Given the description of an element on the screen output the (x, y) to click on. 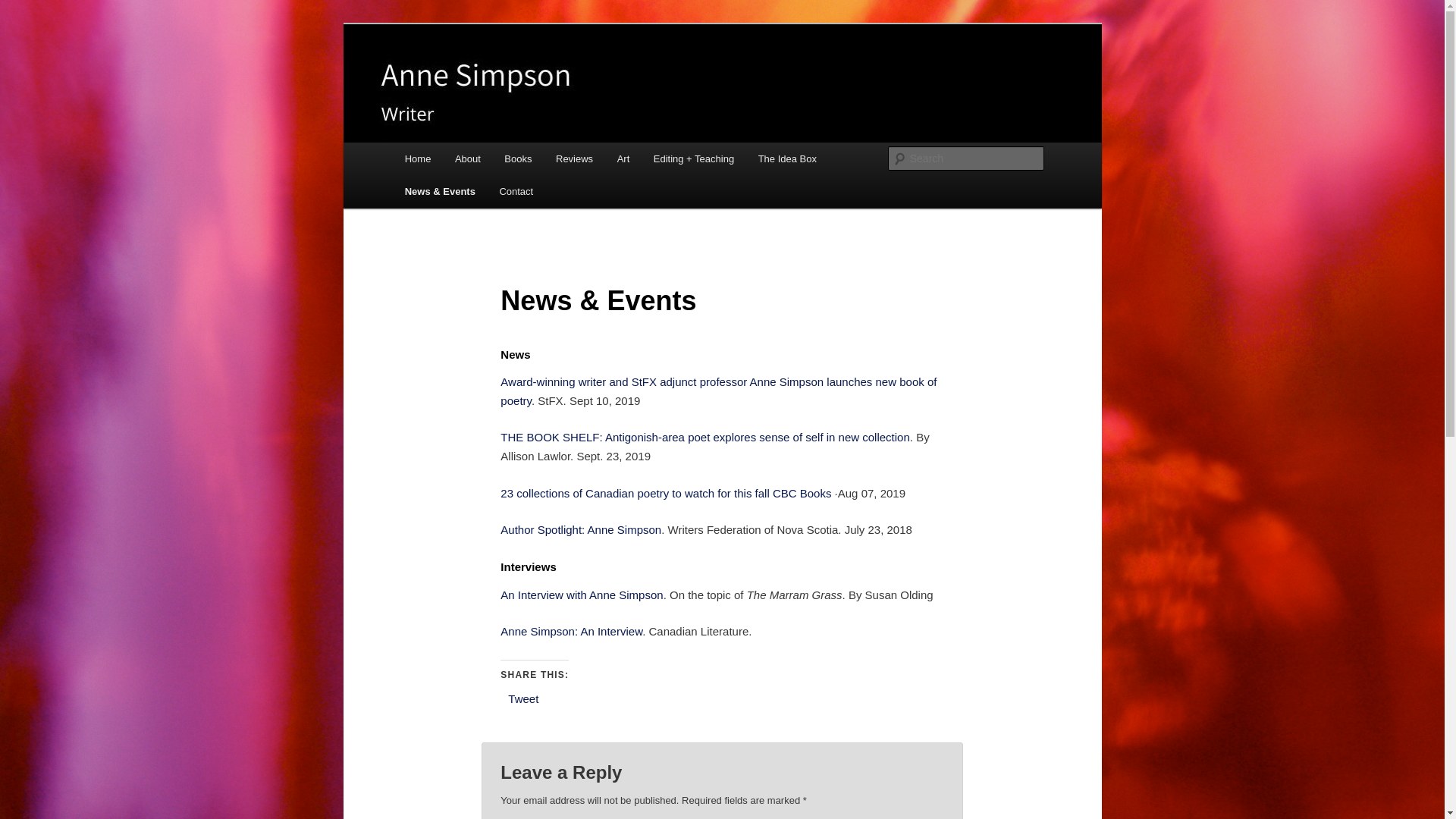
Books Element type: text (518, 158)
Anne Simpson Element type: text (479, 78)
News & Events Element type: text (439, 191)
Art Element type: text (623, 158)
Tweet Element type: text (523, 698)
The Idea Box Element type: text (787, 158)
An Interview with Anne Simpson Element type: text (581, 594)
Skip to primary content Element type: text (414, 142)
Anne Simpson: An Interview Element type: text (571, 630)
About Element type: text (467, 158)
Author Spotlight: Anne Simpson Element type: text (580, 529)
Search Element type: text (24, 8)
Editing + Teaching Element type: text (693, 158)
Reviews Element type: text (574, 158)
Home Element type: text (417, 158)
23 collections of Canadian poetry to watch for this fall Element type: text (634, 492)
CBC Books Element type: text (801, 492)
Contact Element type: text (516, 191)
